Given the description of an element on the screen output the (x, y) to click on. 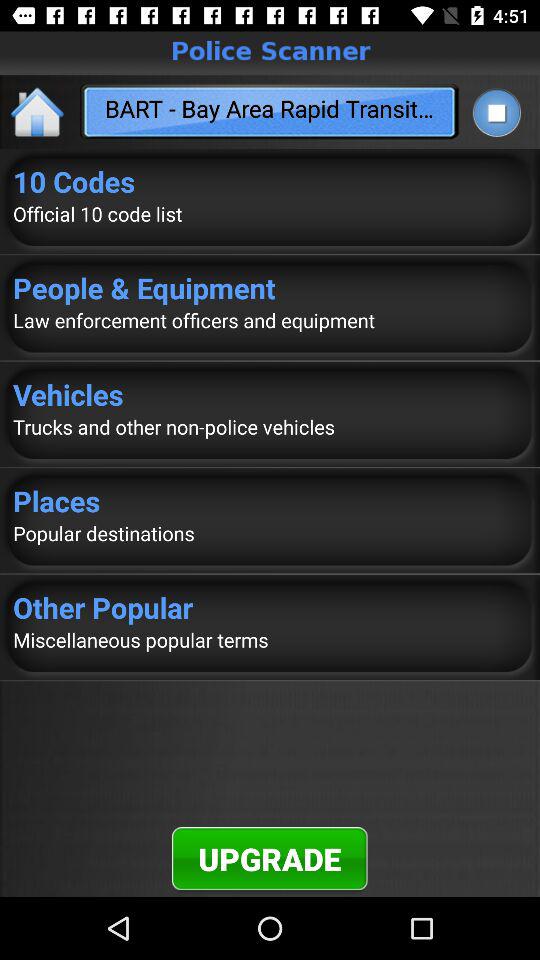
open the icon next to bart bay area (38, 111)
